Given the description of an element on the screen output the (x, y) to click on. 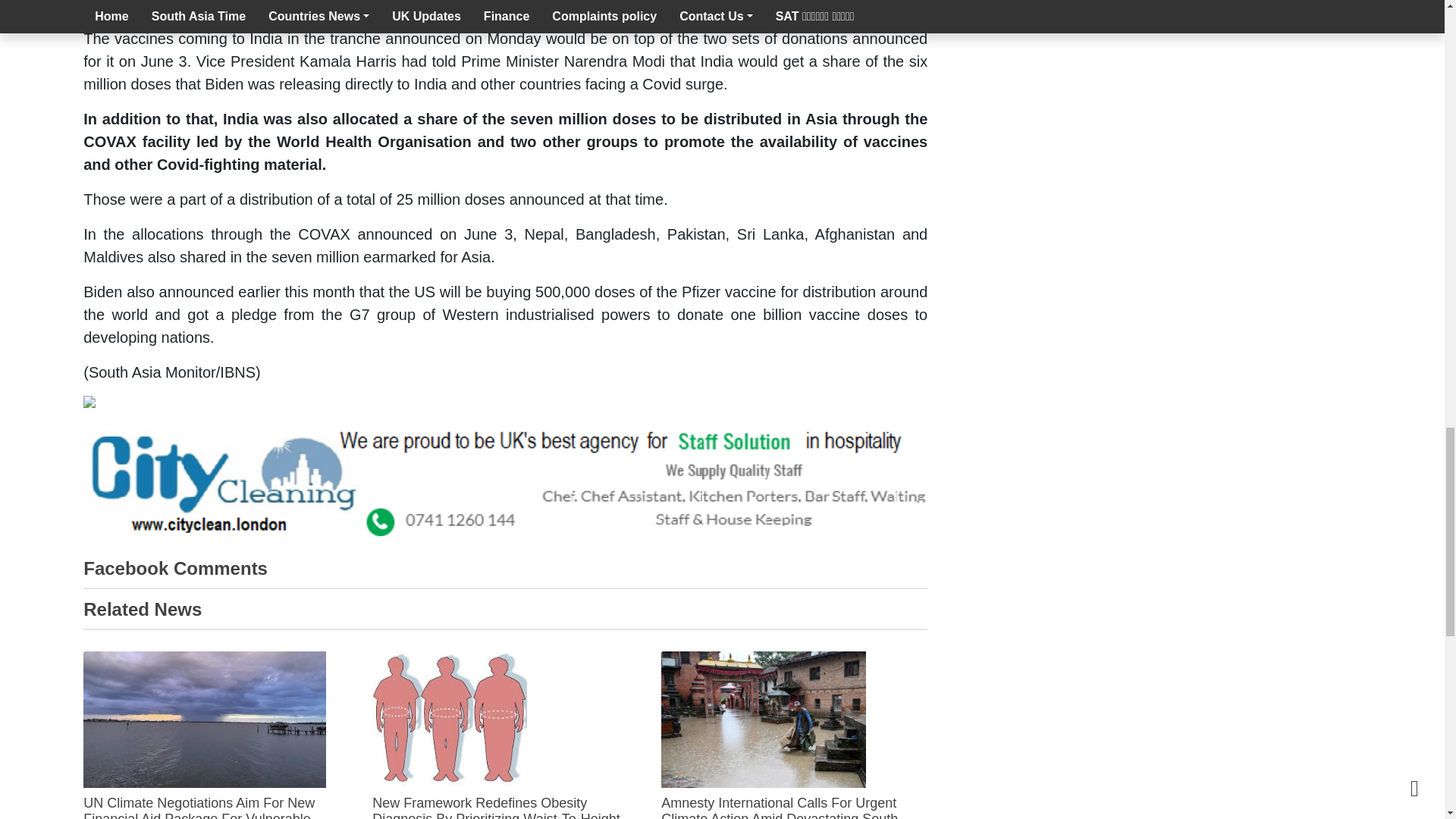
Facebook Comments (174, 567)
Related News (142, 608)
